Given the description of an element on the screen output the (x, y) to click on. 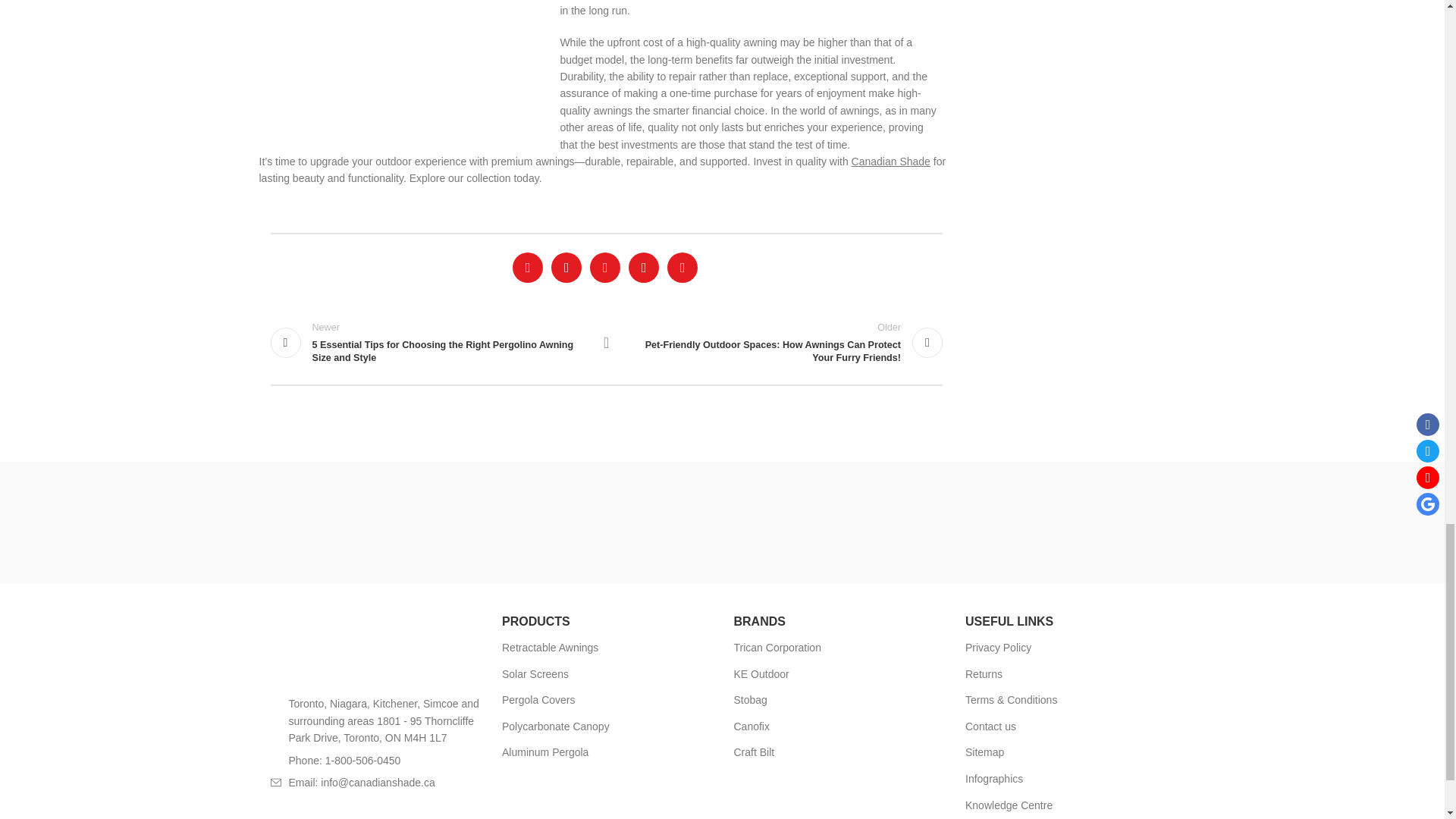
wd-cursor-dark (275, 703)
wd-phone-dark (275, 760)
